Given the description of an element on the screen output the (x, y) to click on. 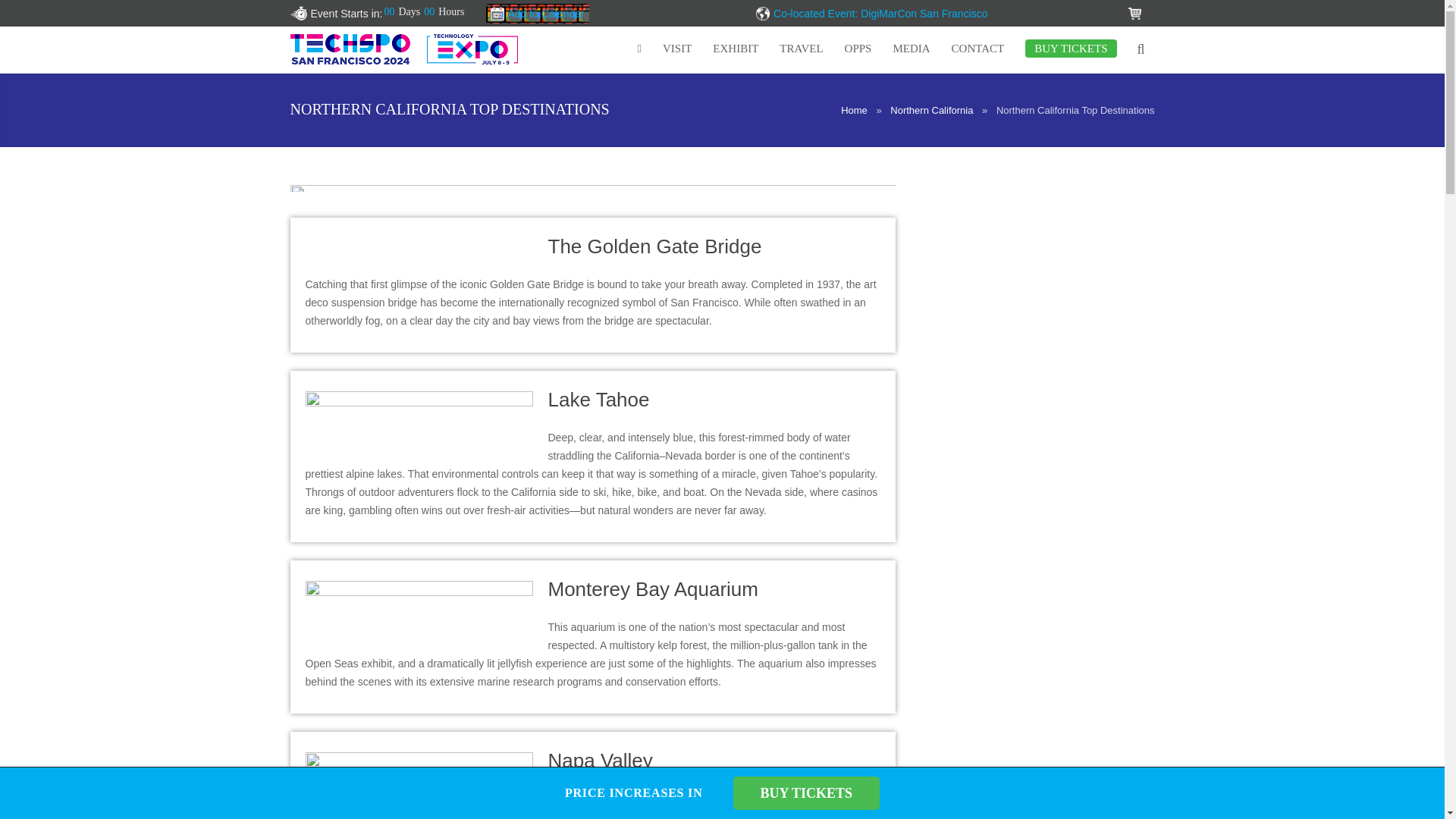
Search (50, 15)
VISIT (676, 48)
Co-located Event: DigiMarCon San Francisco (880, 13)
EXHIBIT (734, 48)
Go to TECHSPO Silicon Valley Home (402, 48)
